Given the description of an element on the screen output the (x, y) to click on. 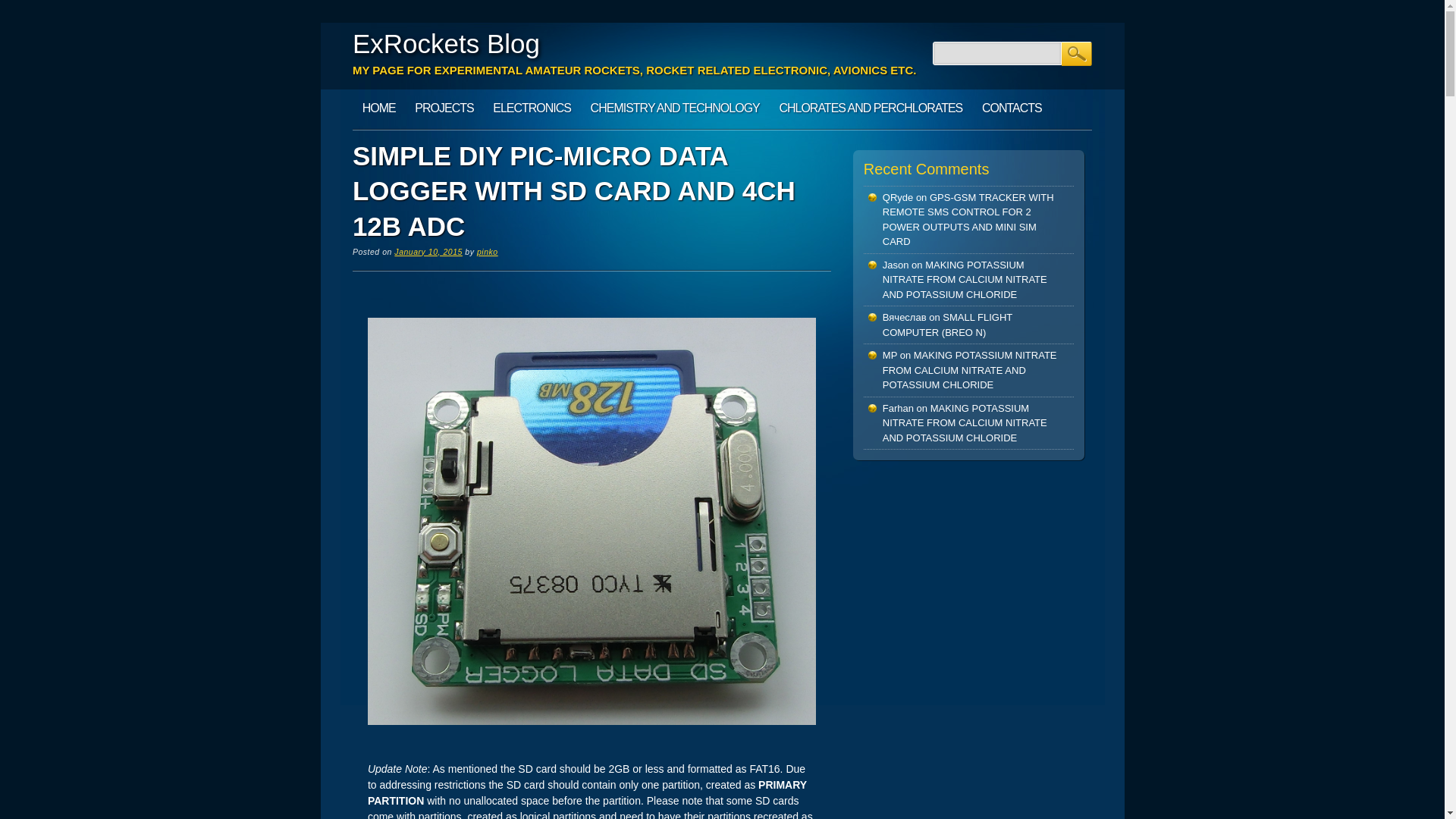
CHEMISTRY AND TECHNOLOGY (675, 108)
HOME (379, 108)
ExRockets Blog (446, 43)
January 10, 2015 (428, 251)
pinko (487, 251)
CHLORATES AND PERCHLORATES (871, 108)
ELECTRONICS (531, 108)
PROJECTS (443, 108)
CONTACTS (1011, 108)
ExRockets Blog (446, 43)
